Given the description of an element on the screen output the (x, y) to click on. 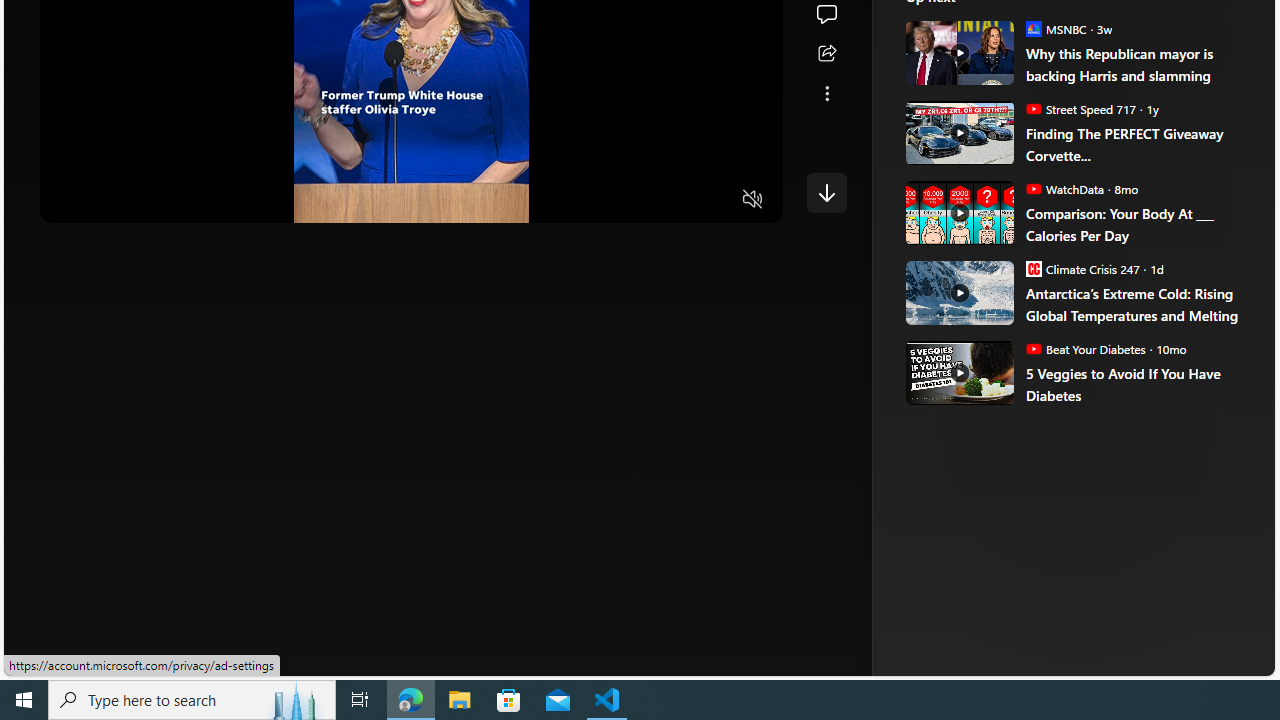
Climate Crisis 247 (1033, 268)
Seek Back (109, 200)
Comparison: Your Body At ___ Calories Per Day (958, 212)
Street Speed 717 Street Speed 717 (1080, 108)
Finding The PERFECT Giveaway Corvette... (1136, 144)
Share this story (826, 53)
